Given the description of an element on the screen output the (x, y) to click on. 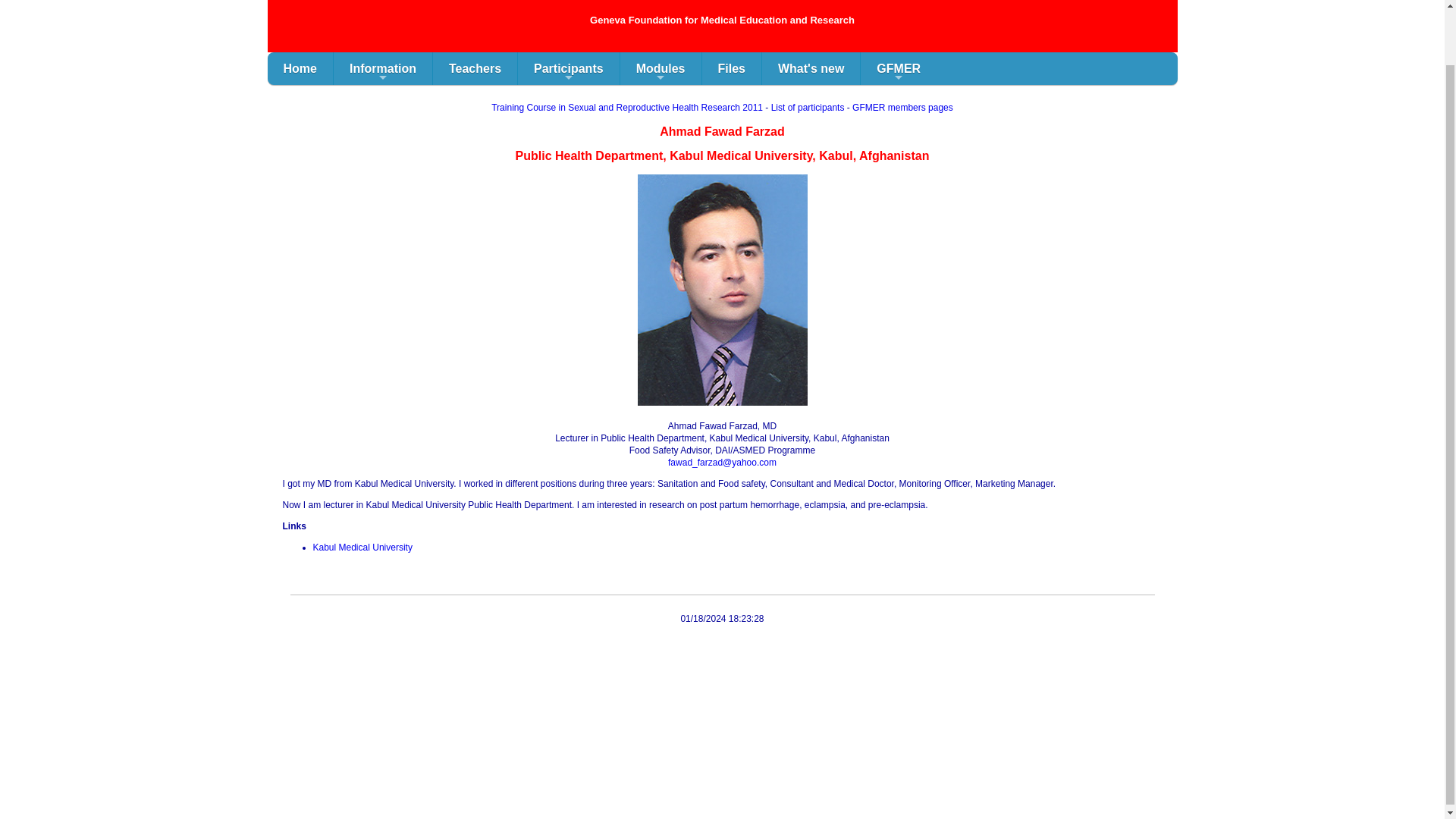
Home (298, 68)
List of participants (807, 107)
What's new (810, 68)
Teachers (474, 68)
Files (731, 68)
GFMER members pages (902, 107)
